Given the description of an element on the screen output the (x, y) to click on. 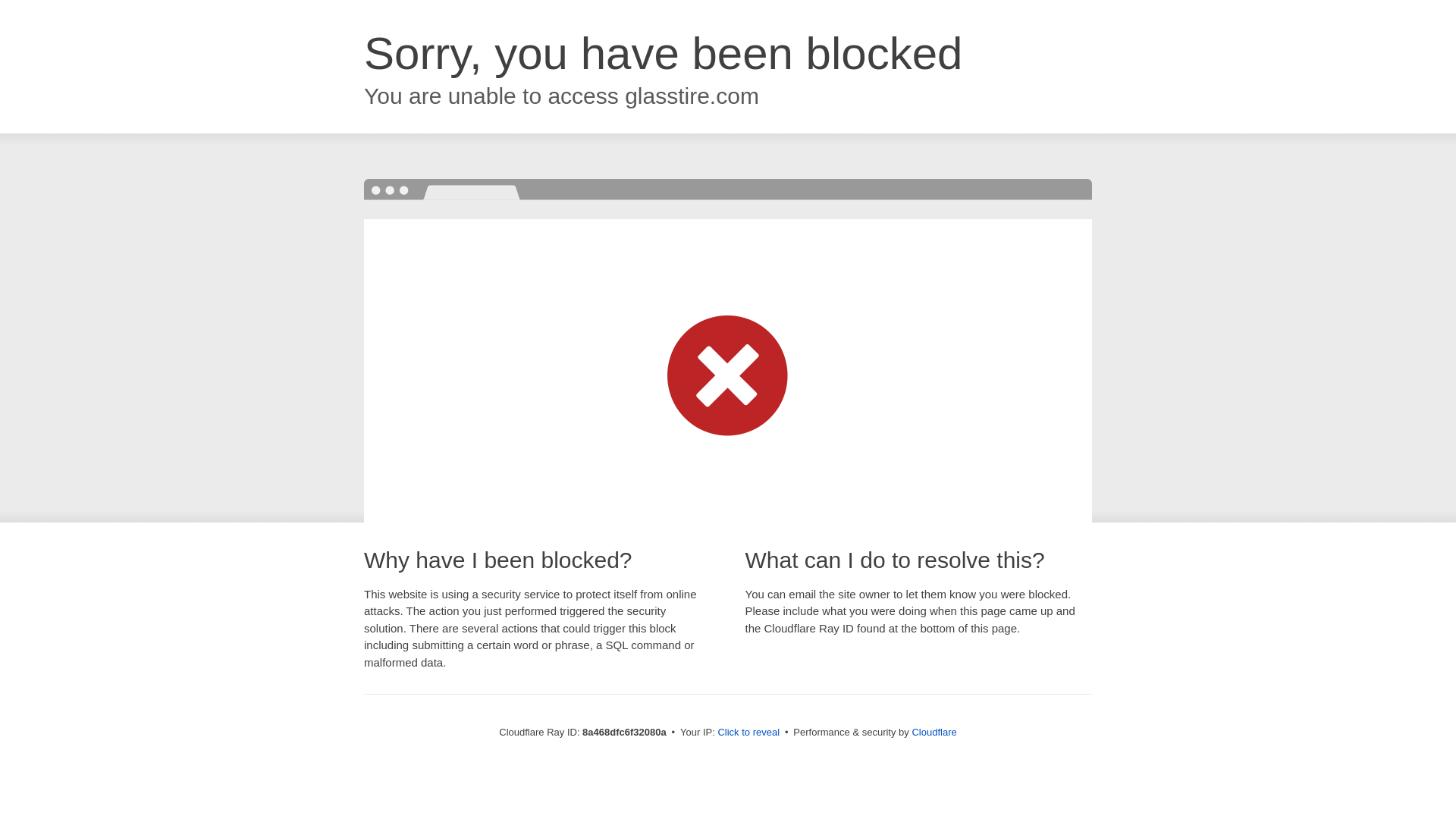
Cloudflare (933, 731)
Click to reveal (747, 732)
